Given the description of an element on the screen output the (x, y) to click on. 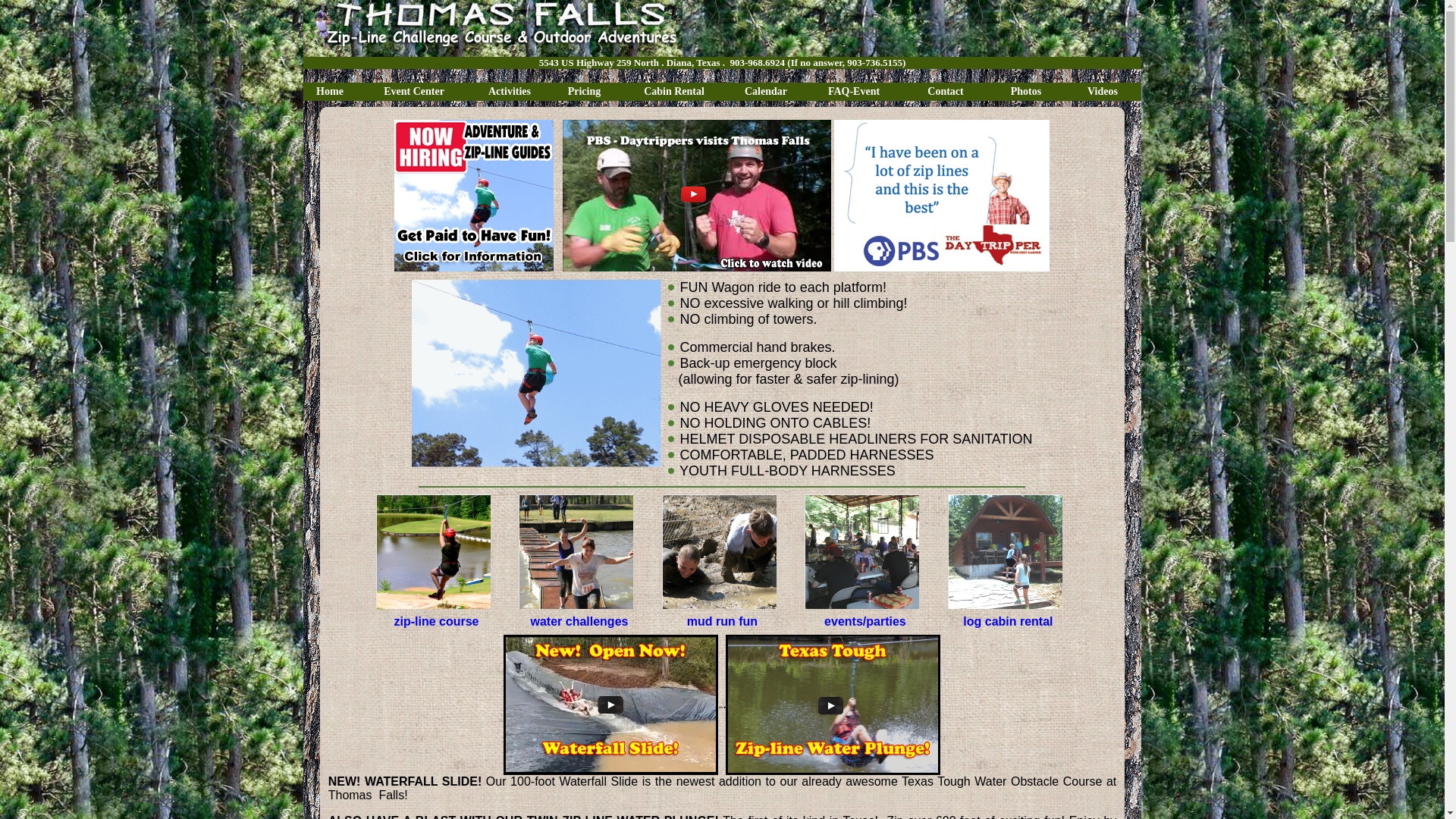
Activities (509, 91)
Calendar (765, 91)
Contact (945, 91)
Cabin Rental (673, 91)
Photos (1026, 91)
Videos (1102, 91)
Home (329, 91)
Event Center (413, 91)
Pricing (584, 91)
FAQ-Event (853, 91)
